Given the description of an element on the screen output the (x, y) to click on. 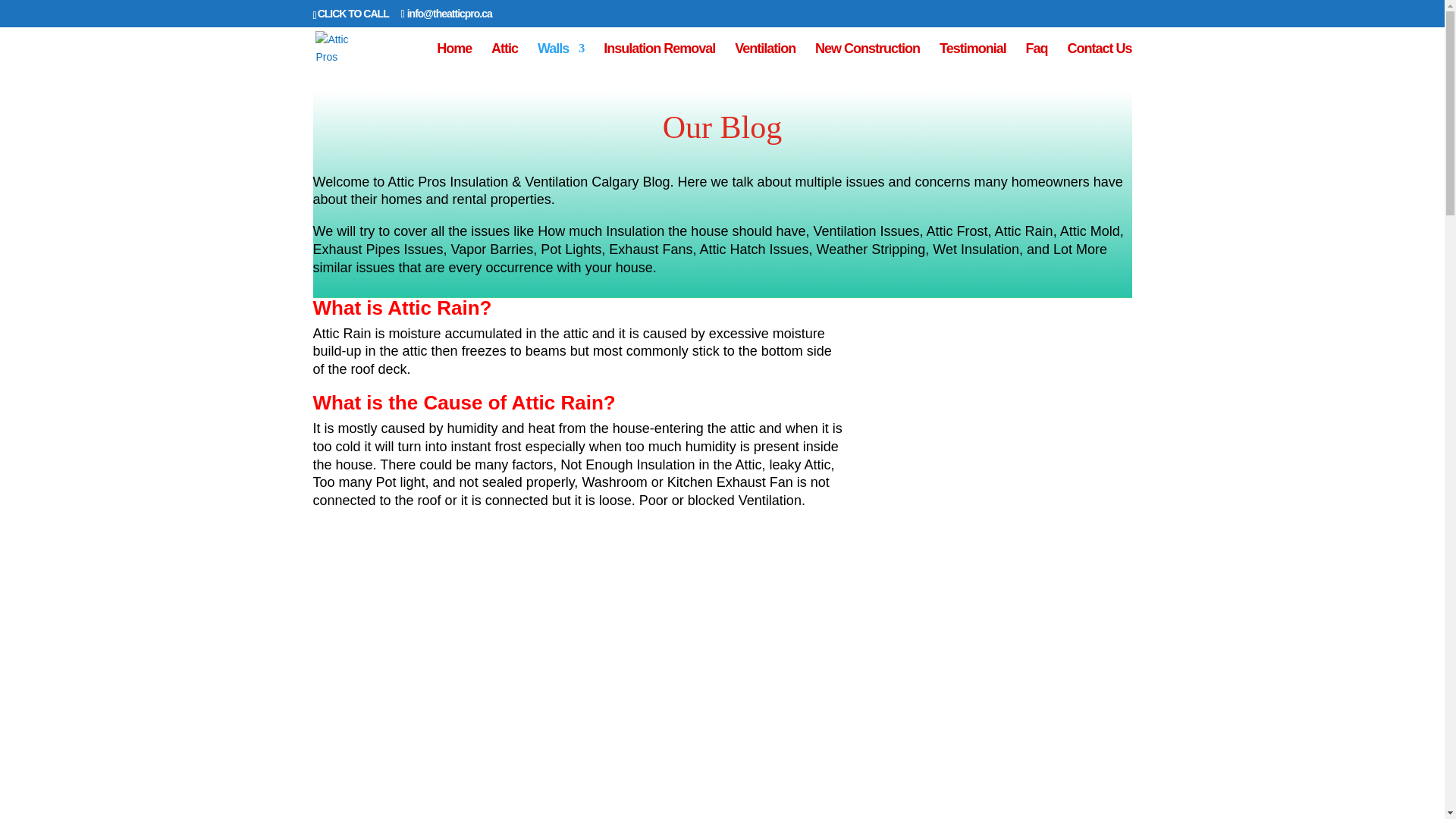
Walls (560, 58)
Insulation Removal (659, 58)
New Construction (867, 58)
Attic (505, 58)
Testimonial (972, 58)
Ventilation (764, 58)
Home (453, 58)
Contact Us (1099, 58)
Faq (1037, 58)
CLICK TO CALL (352, 13)
